Given the description of an element on the screen output the (x, y) to click on. 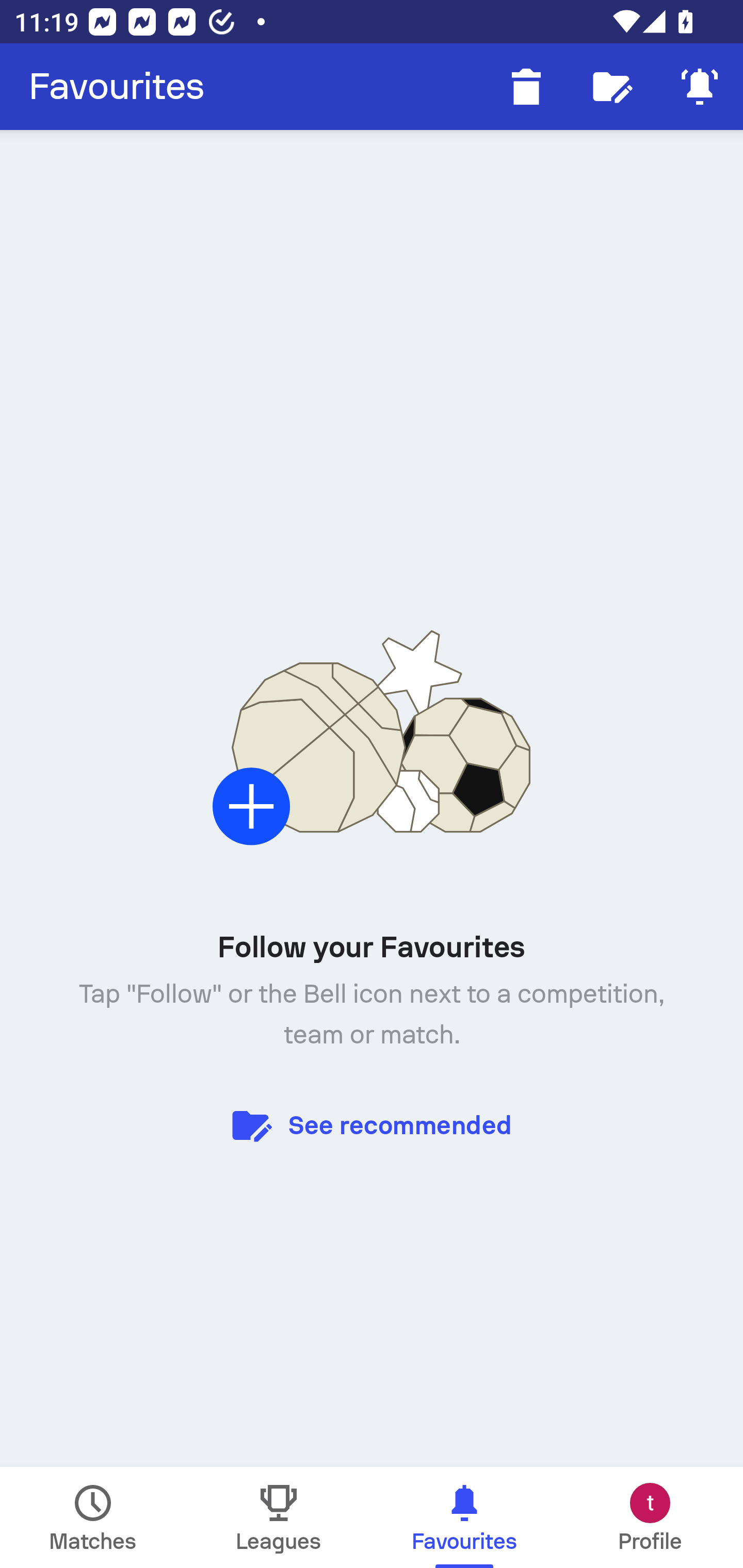
Favourites (116, 86)
Delete finished (525, 86)
Follow editor (612, 86)
Mute Notifications (699, 86)
See recommended (371, 1124)
Matches (92, 1517)
Leagues (278, 1517)
Profile (650, 1517)
